Given the description of an element on the screen output the (x, y) to click on. 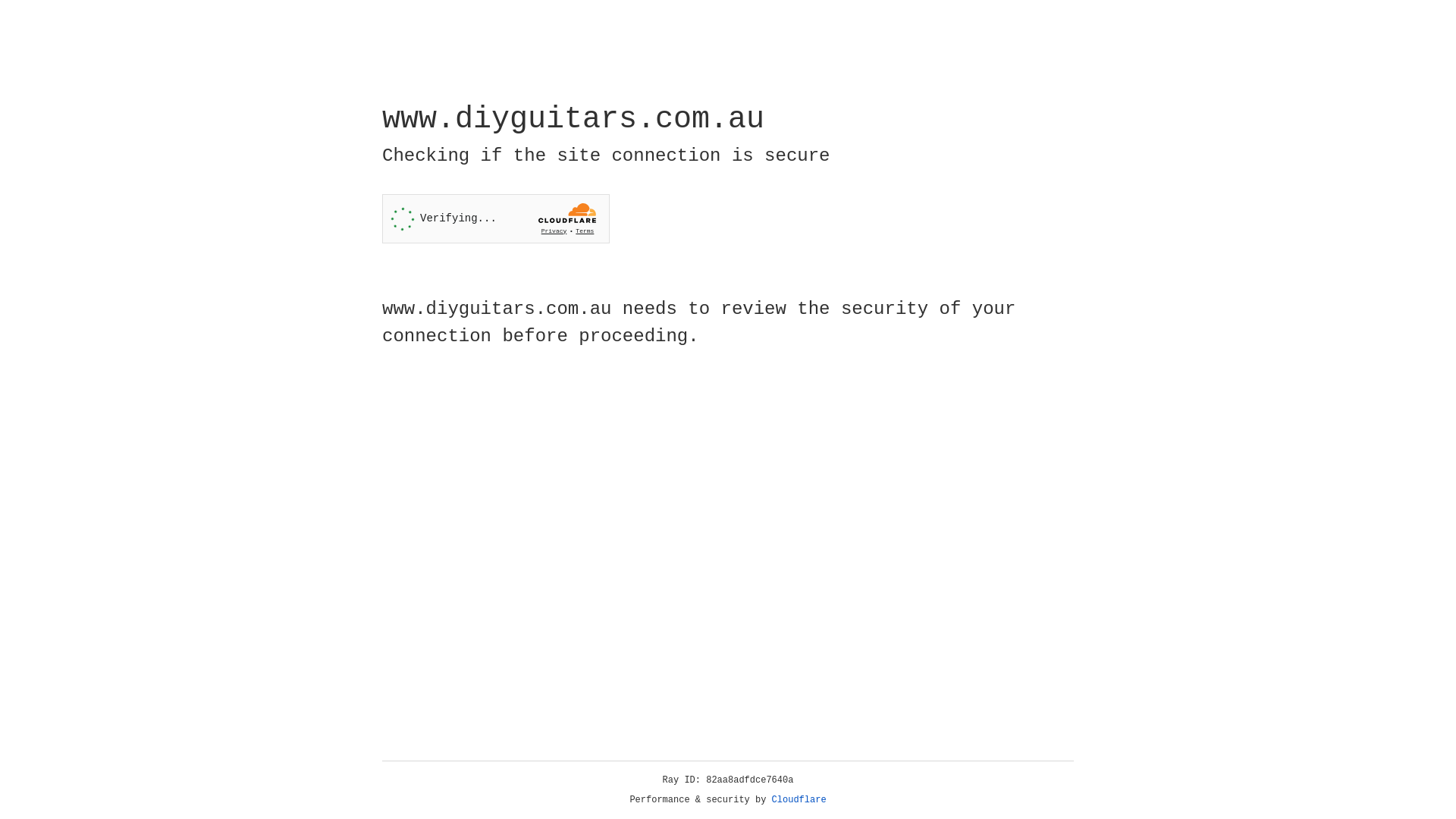
Widget containing a Cloudflare security challenge Element type: hover (495, 218)
Cloudflare Element type: text (798, 799)
